Given the description of an element on the screen output the (x, y) to click on. 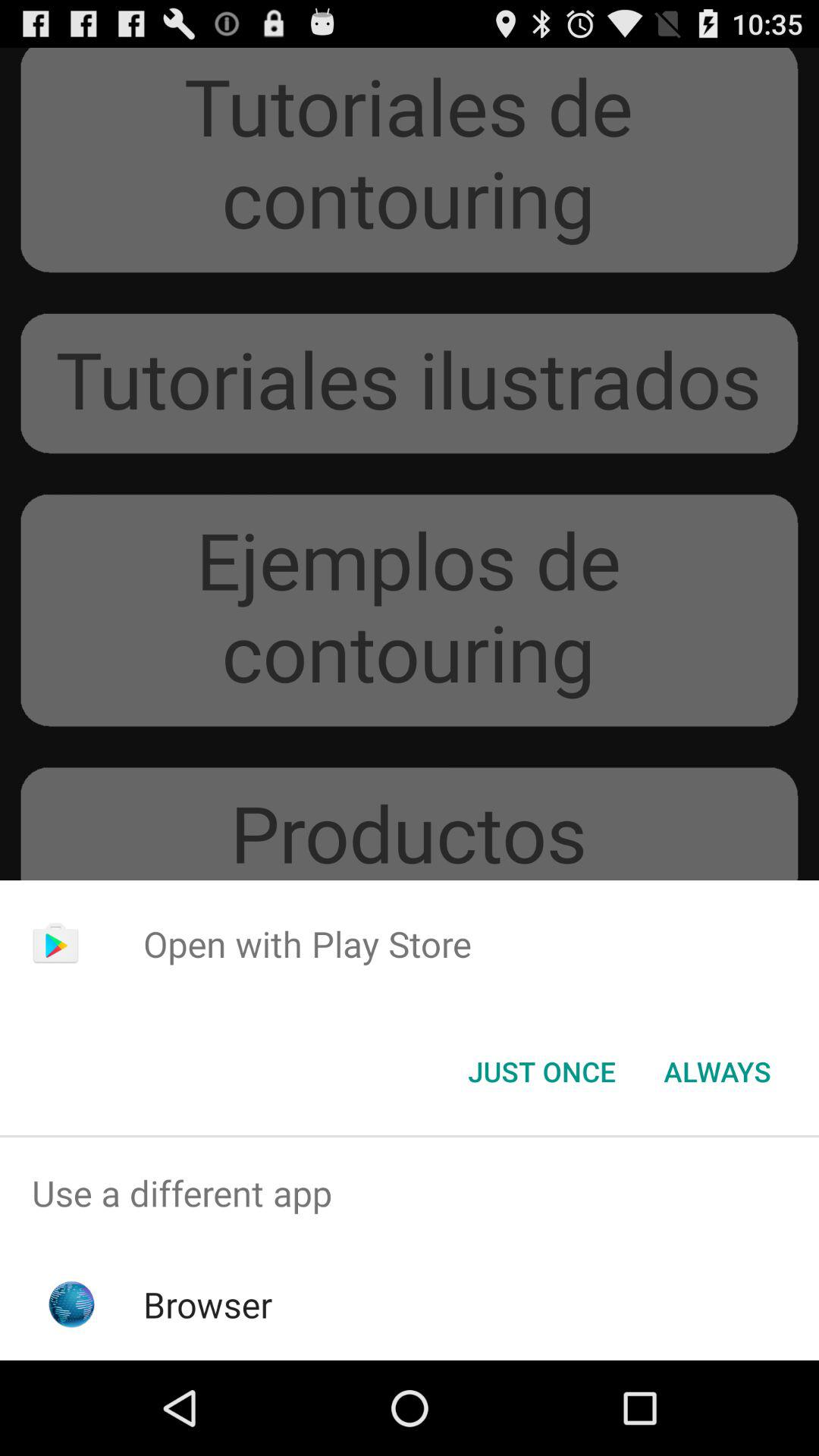
open icon to the right of just once icon (717, 1071)
